Given the description of an element on the screen output the (x, y) to click on. 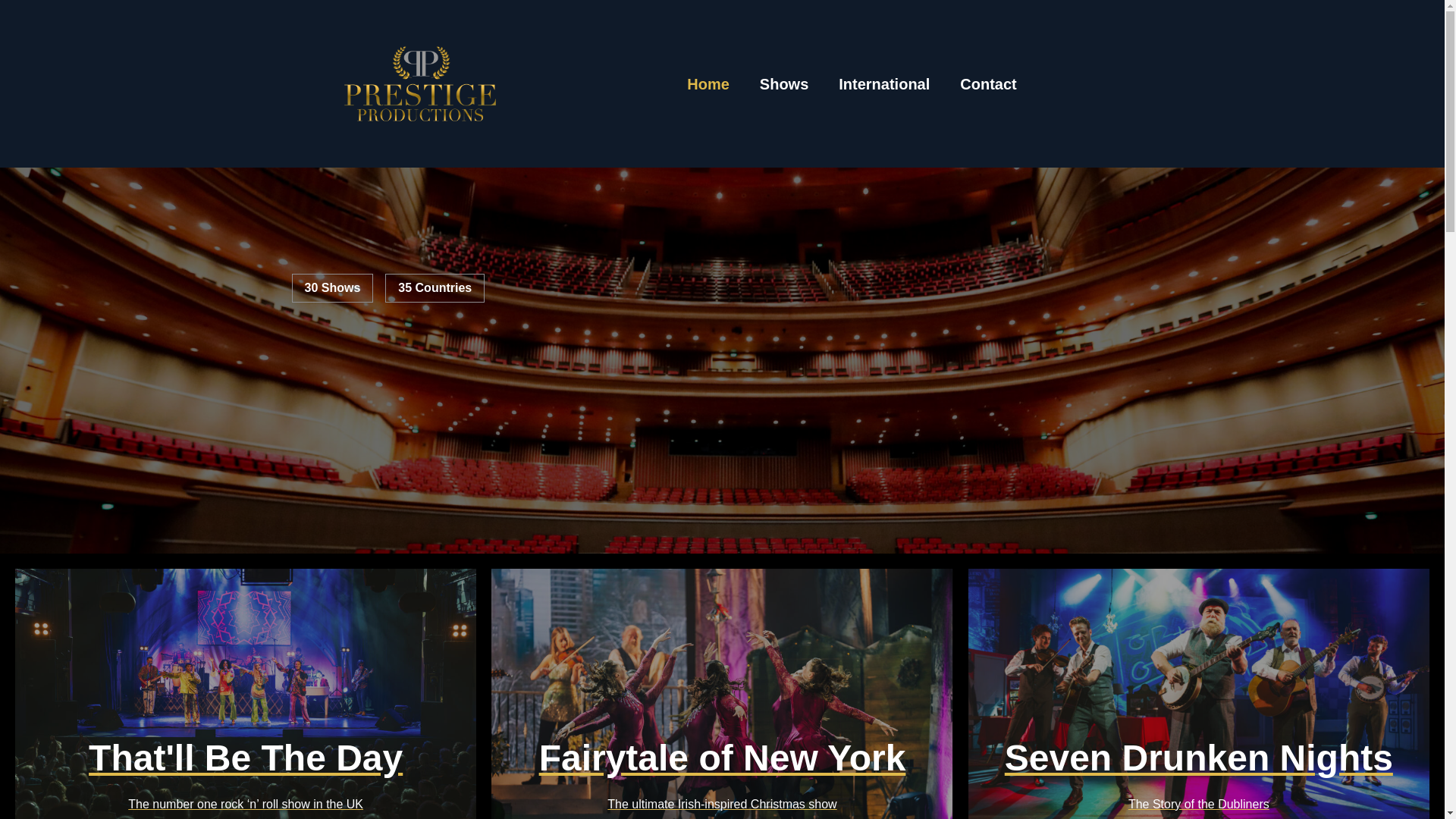
International (884, 83)
Contact (1198, 693)
Home (987, 83)
Shows (707, 83)
